Given the description of an element on the screen output the (x, y) to click on. 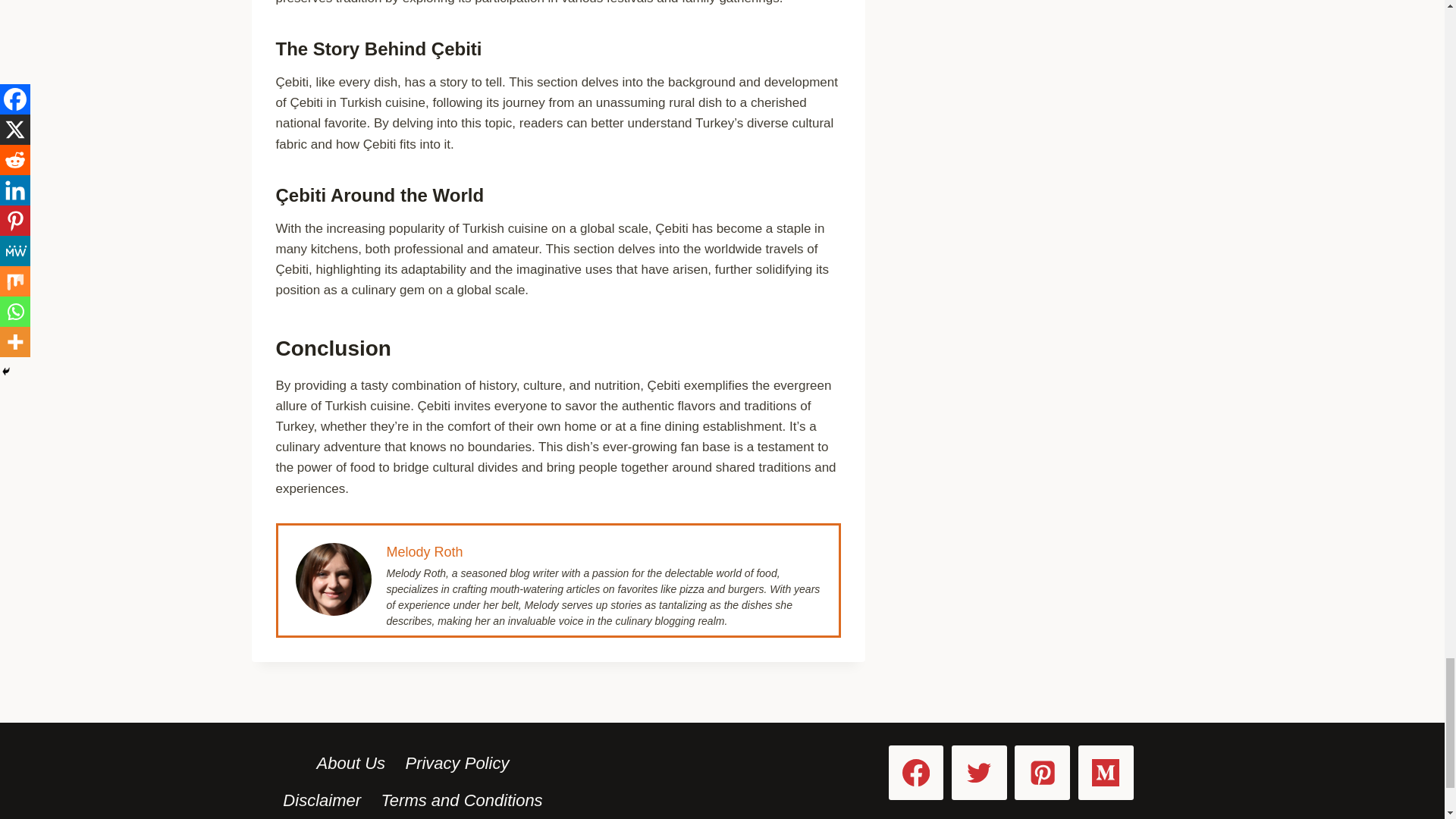
Melody Roth (425, 551)
